Given the description of an element on the screen output the (x, y) to click on. 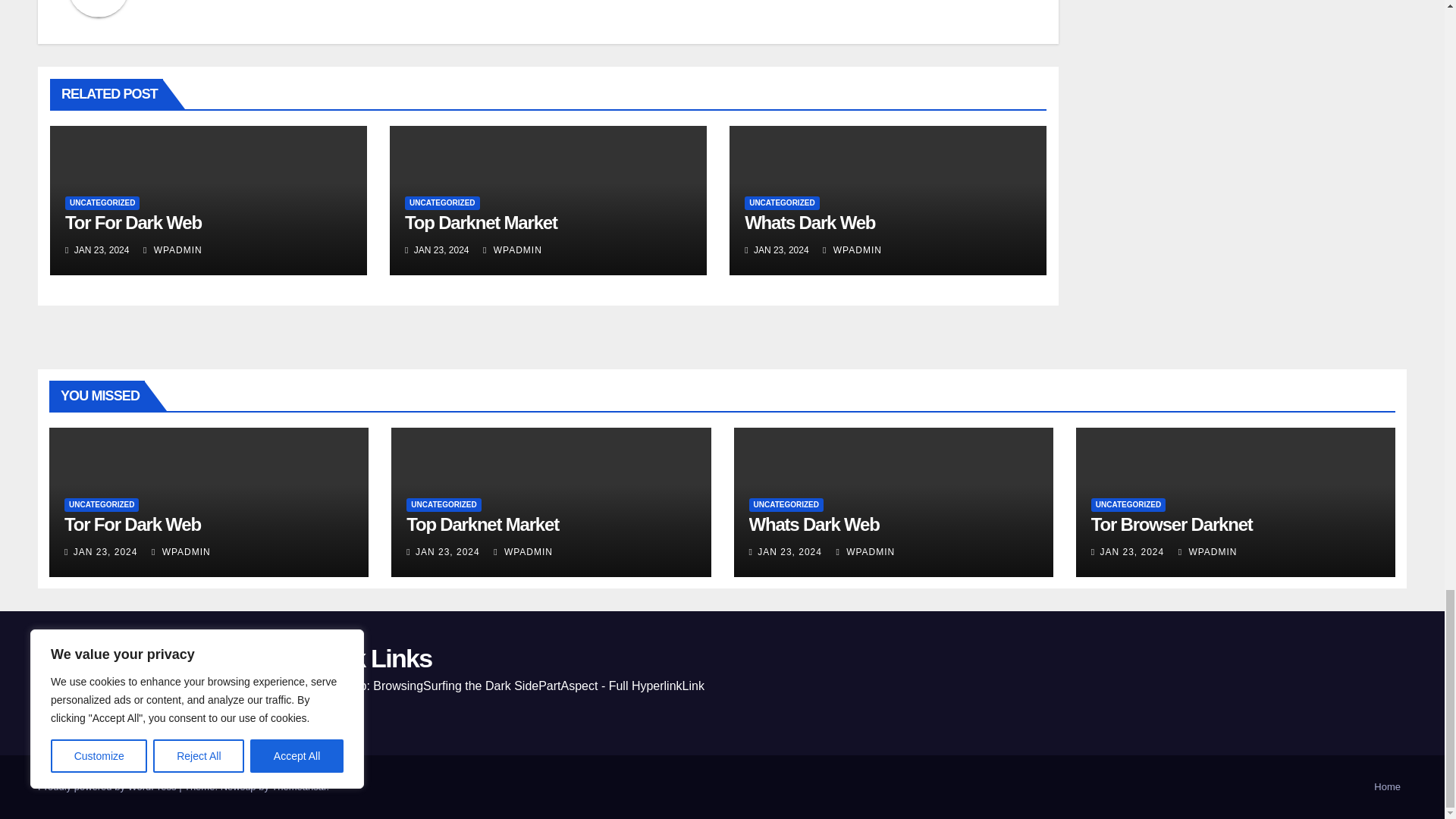
Permalink to: Tor For Dark Web (132, 524)
Home (1387, 786)
Permalink to: Whats Dark Web (814, 524)
Permalink to: Whats Dark Web (809, 222)
Permalink to: Tor Browser Darknet (1171, 524)
Permalink to: Tor For Dark Web (133, 222)
Permalink to: Top Darknet Market (480, 222)
Permalink to: Top Darknet Market (482, 524)
